Given the description of an element on the screen output the (x, y) to click on. 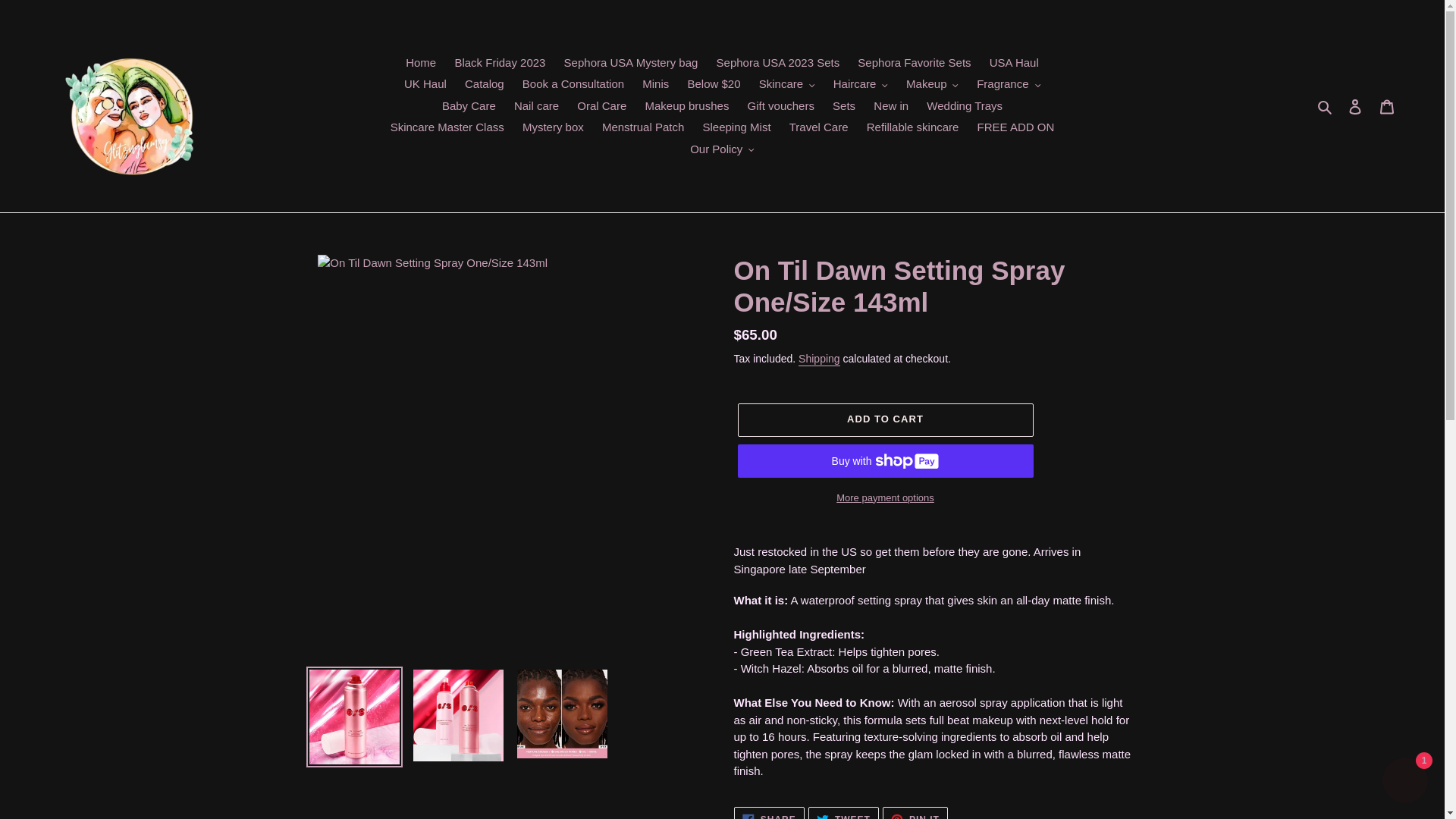
Shopify online store chat (1404, 781)
Catalog (484, 84)
Home (420, 63)
Sephora USA 2023 Sets (778, 63)
UK Haul (425, 84)
Black Friday 2023 (499, 63)
Book a Consultation (573, 84)
Sephora Favorite Sets (914, 63)
Minis (655, 84)
Sephora USA Mystery bag (631, 63)
Skincare (786, 84)
USA Haul (1013, 63)
